Given the description of an element on the screen output the (x, y) to click on. 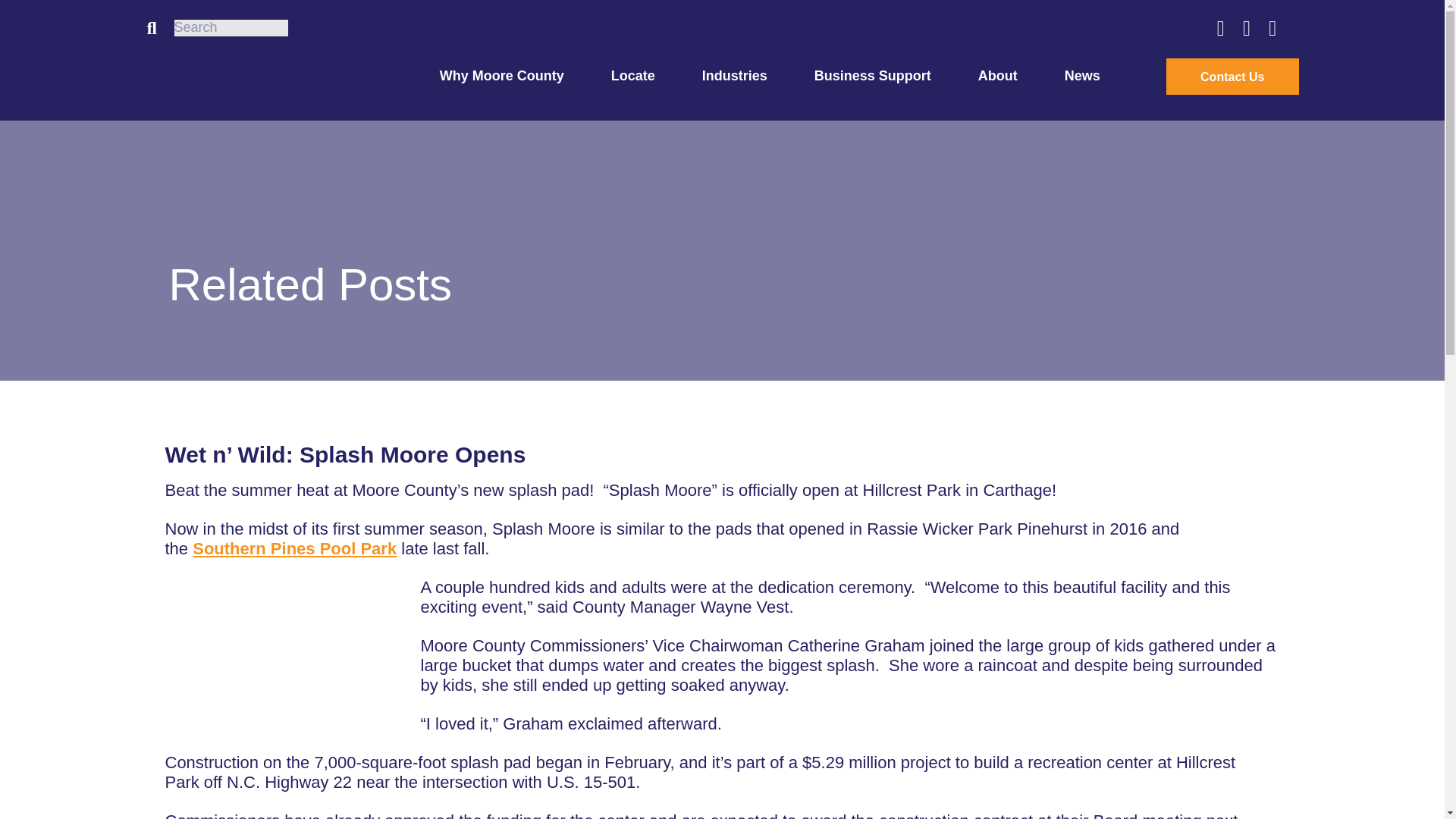
Why Moore County (501, 75)
News (1082, 75)
Locate (633, 75)
Industries (734, 75)
Business Support (872, 75)
MCEDP (258, 75)
Contact Us (1232, 76)
About (997, 75)
